Given the description of an element on the screen output the (x, y) to click on. 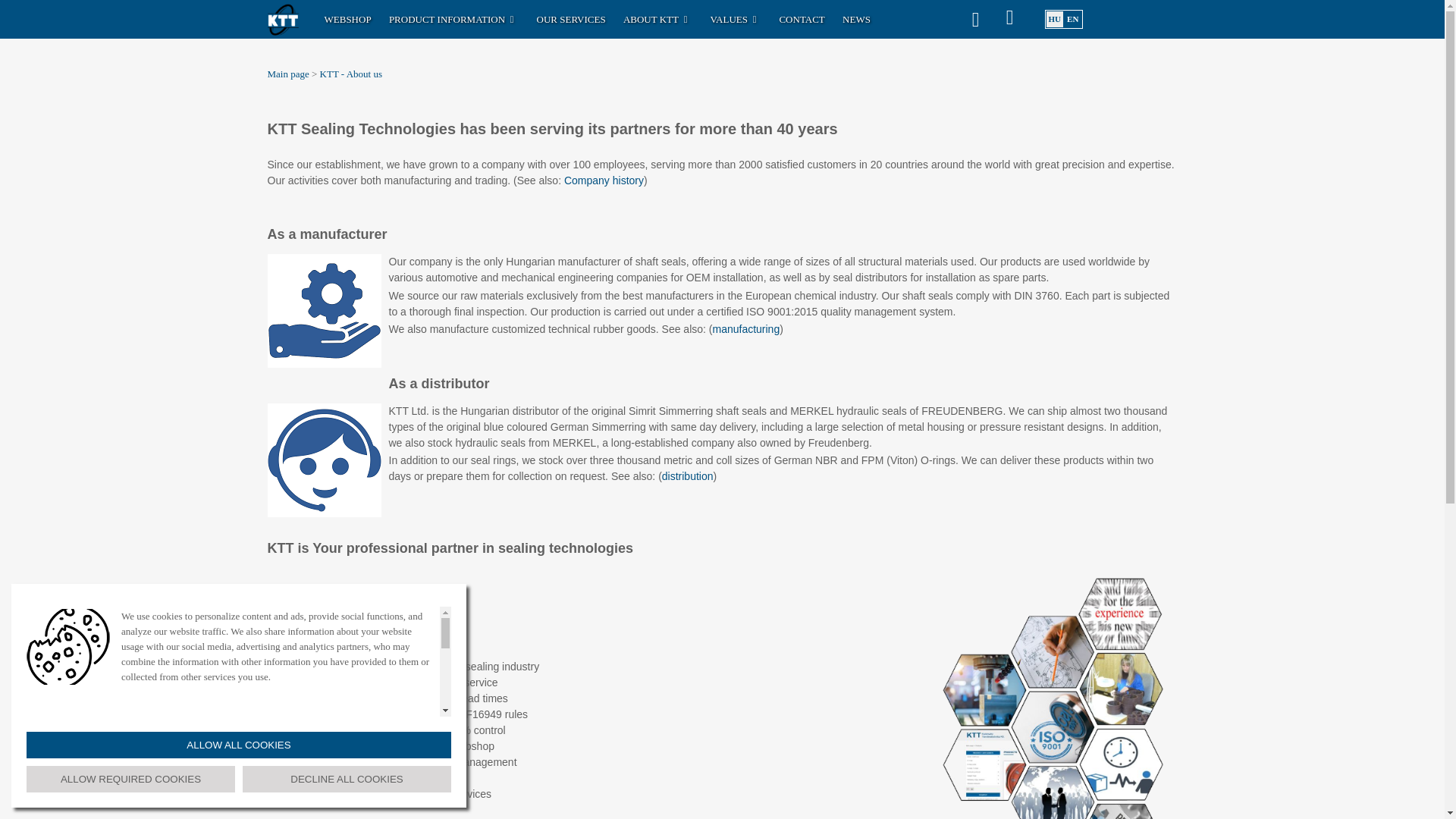
HU (1054, 18)
Webshop (347, 18)
PRODUCT INFORMATION (453, 18)
Main page (287, 73)
manufacturing (744, 328)
KTT Kubinszky Sealing Technologies Ltd. (283, 18)
WEBSHOP (347, 18)
Values (734, 18)
EN (1072, 18)
